Given the description of an element on the screen output the (x, y) to click on. 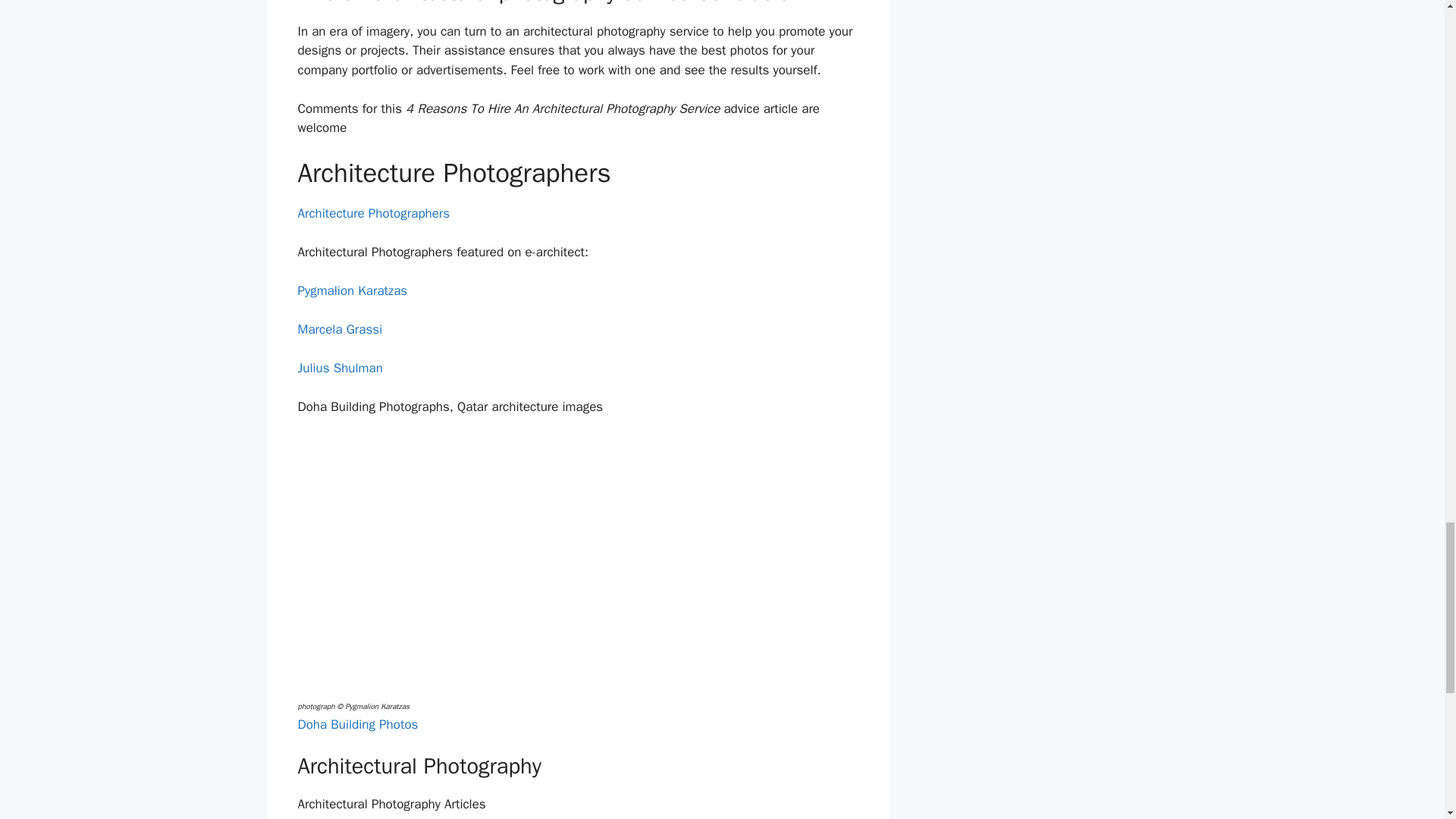
Architecture Photographers (373, 213)
Julius Shulman (339, 367)
Pygmalion Karatzas (352, 290)
Doha Building Photos (357, 724)
Marcela Grassi (339, 329)
